Given the description of an element on the screen output the (x, y) to click on. 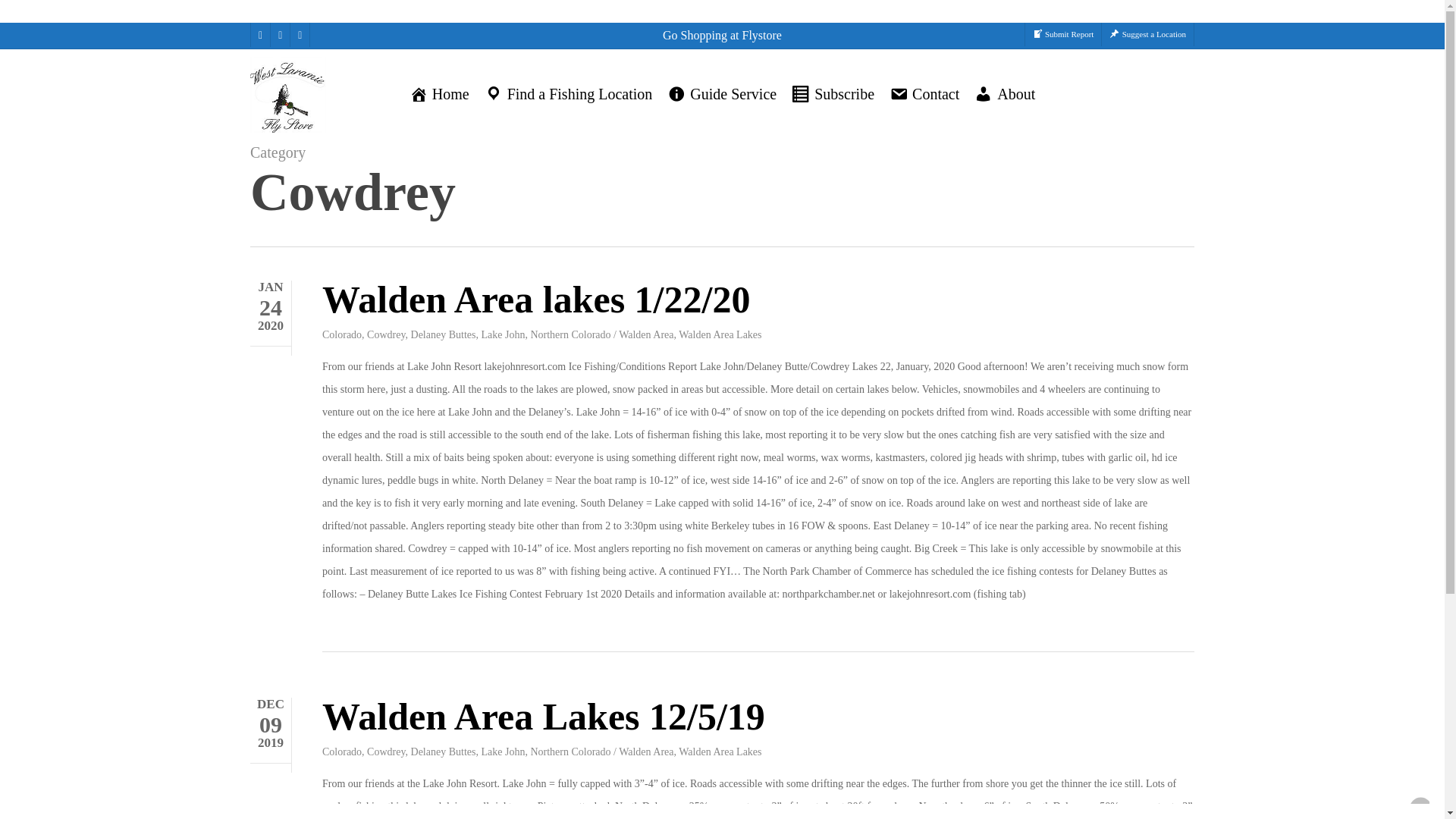
About (1004, 94)
Lake John (502, 334)
Go Shopping at Flystore (721, 34)
Submit Report (1063, 33)
Walden Area Lakes (719, 334)
Cowdrey (385, 334)
Find a Fishing Location (568, 94)
instagram (298, 34)
twitter (259, 34)
Suggest a Location (1146, 33)
Home (438, 94)
Subscribe (833, 94)
Guide Service (721, 94)
Contact (924, 94)
Delaney Buttes (443, 334)
